Given the description of an element on the screen output the (x, y) to click on. 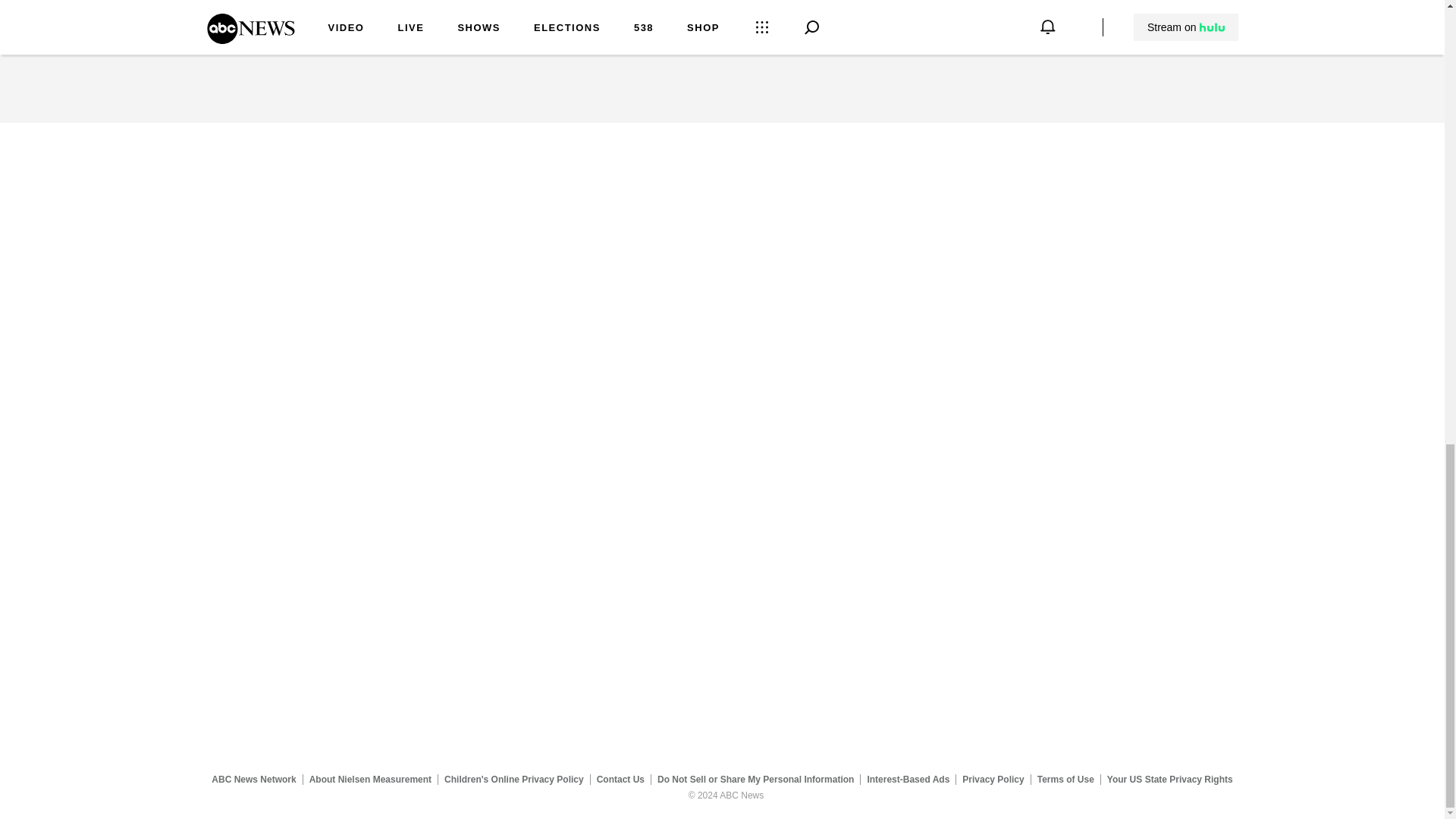
Do Not Sell or Share My Personal Information (755, 778)
About Nielsen Measurement (370, 778)
Contact Us (620, 778)
Children's Online Privacy Policy (514, 778)
Your US State Privacy Rights (1169, 778)
Privacy Policy (993, 778)
ABC News Network (253, 778)
Terms of Use (1065, 778)
Interest-Based Ads (908, 778)
